Given the description of an element on the screen output the (x, y) to click on. 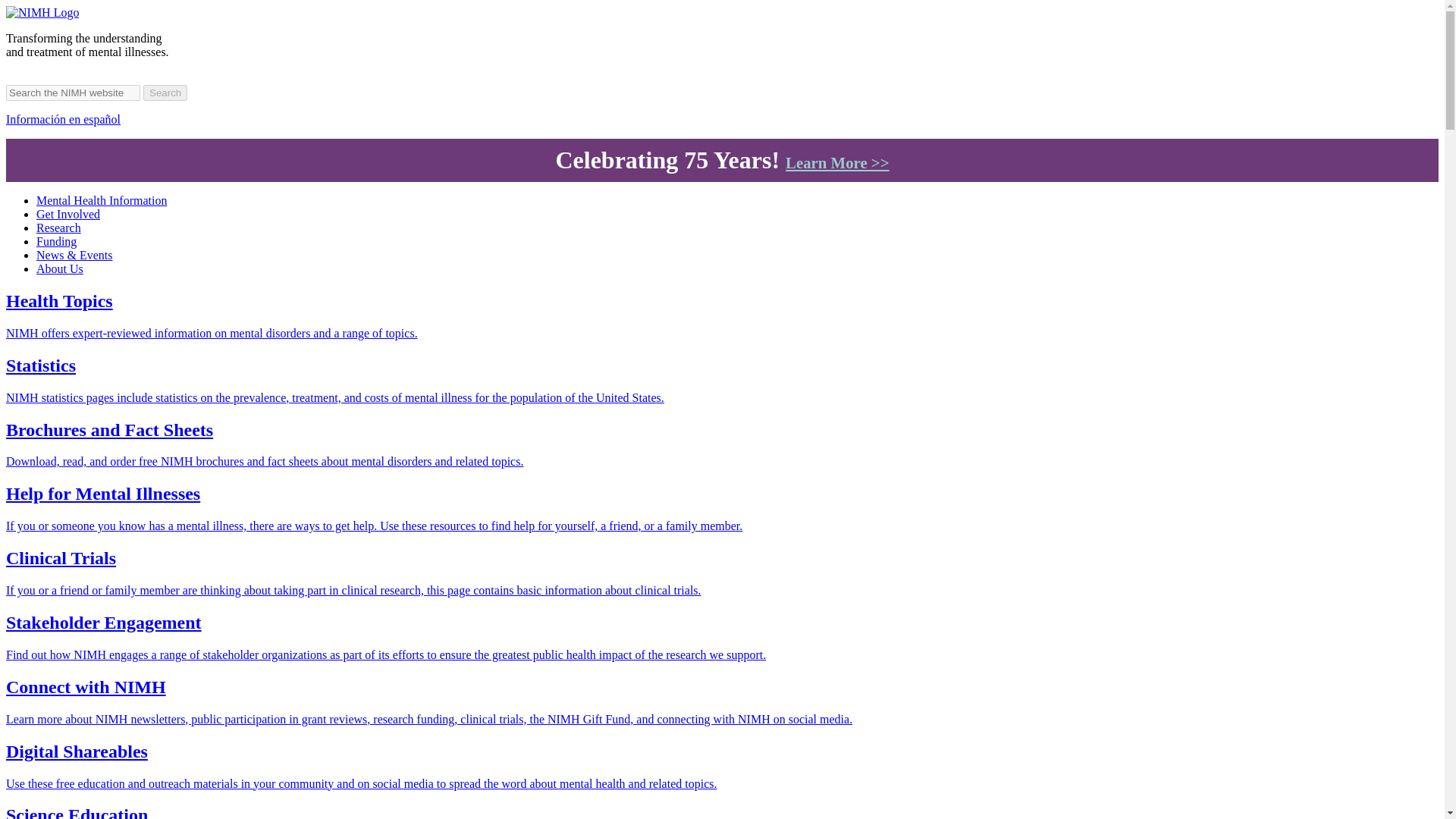
Funding (56, 241)
About Us (59, 268)
Search (164, 92)
Mental Health Information (101, 200)
NIMH Home (41, 11)
Research (58, 227)
Get Involved (68, 214)
Search (164, 92)
